Given the description of an element on the screen output the (x, y) to click on. 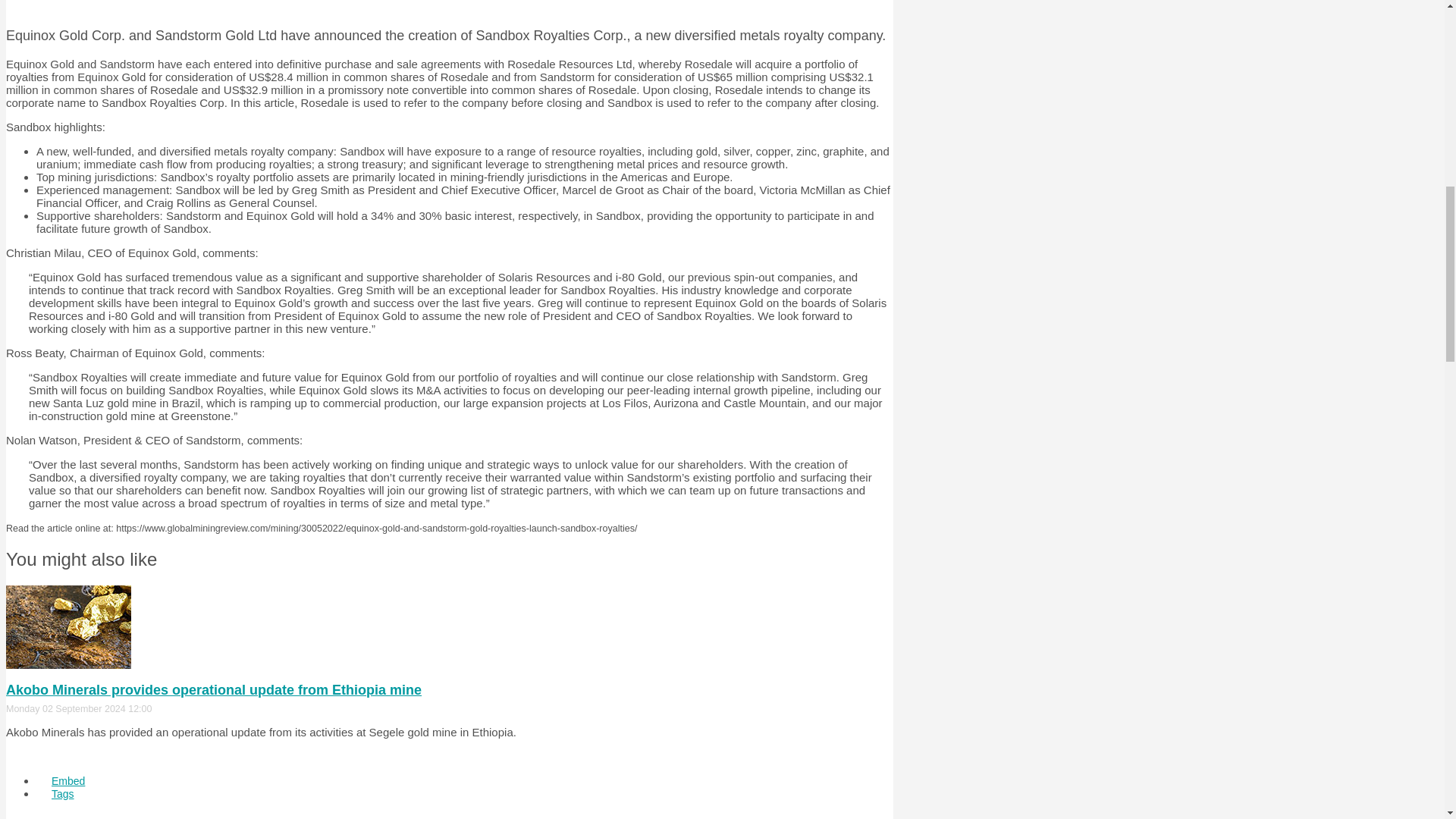
Embed (68, 780)
Tags (62, 793)
